Given the description of an element on the screen output the (x, y) to click on. 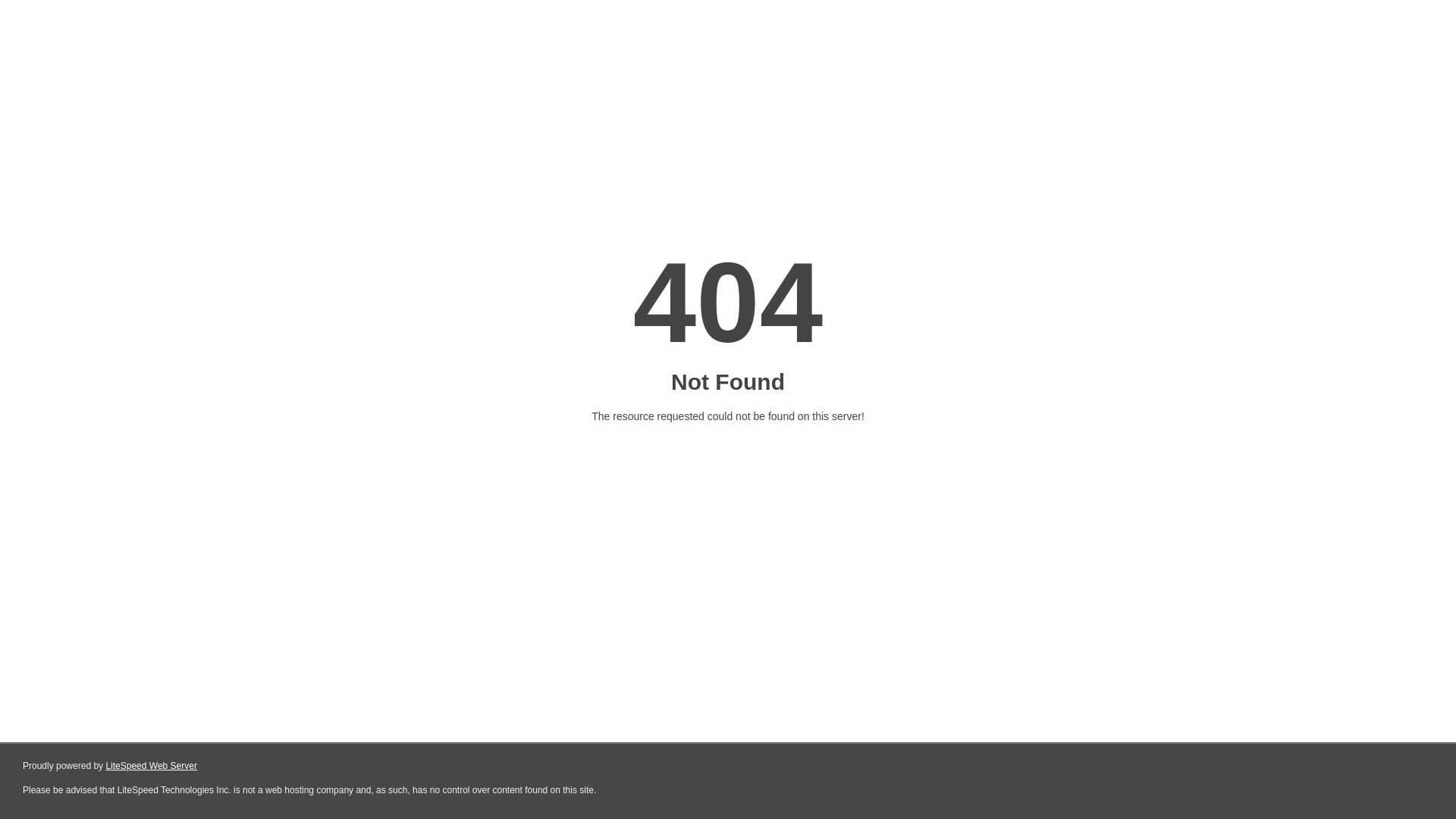
LiteSpeed Web Server Element type: text (151, 765)
